Given the description of an element on the screen output the (x, y) to click on. 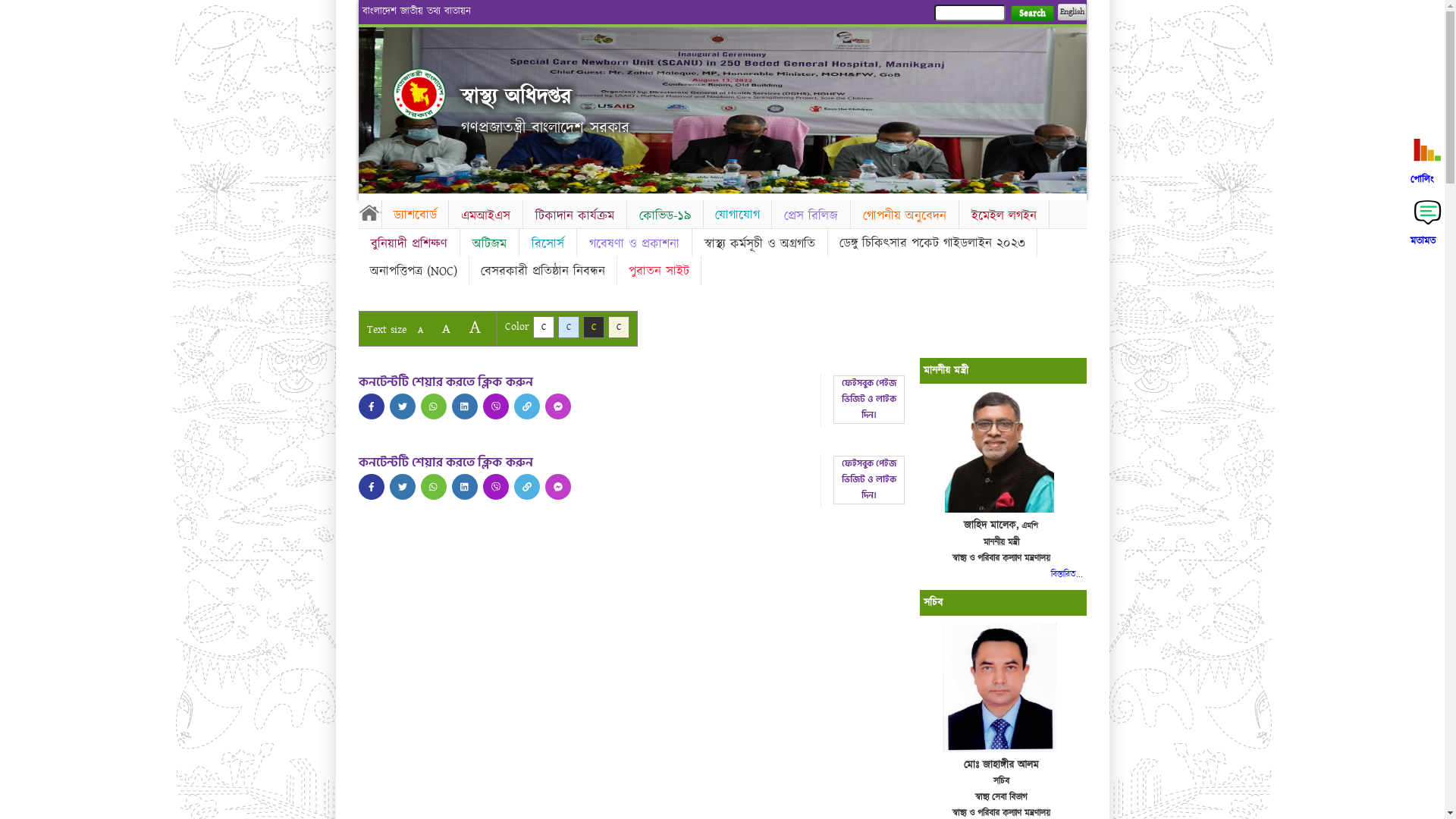
C Element type: text (542, 327)
Search Element type: text (1031, 13)
C Element type: text (592, 327)
Home Element type: hover (368, 211)
A Element type: text (474, 327)
A Element type: text (419, 330)
English Element type: text (1071, 11)
C Element type: text (568, 327)
C Element type: text (618, 327)
A Element type: text (445, 328)
Home Element type: hover (418, 93)
